Given the description of an element on the screen output the (x, y) to click on. 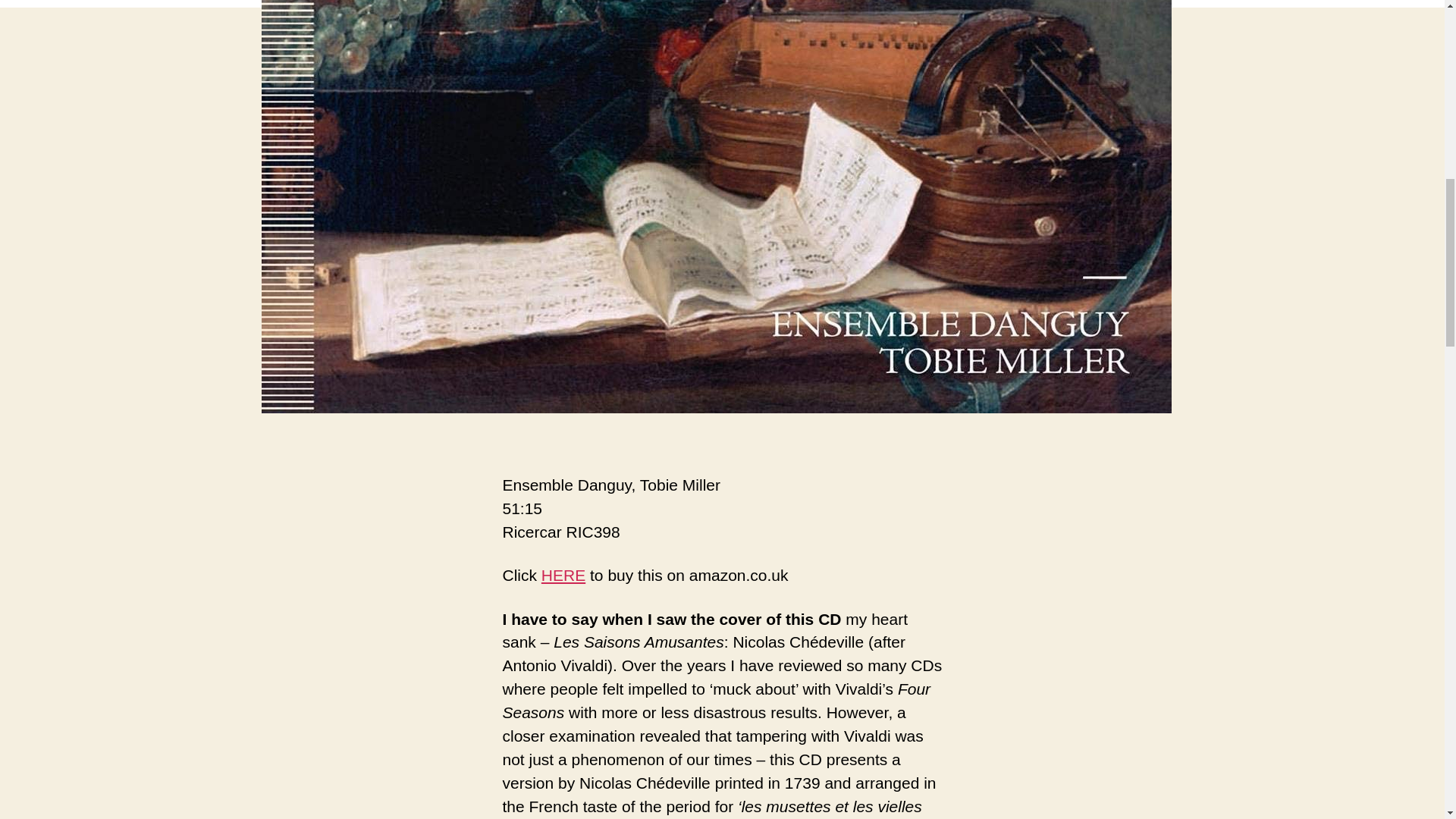
HERE (563, 574)
